Given the description of an element on the screen output the (x, y) to click on. 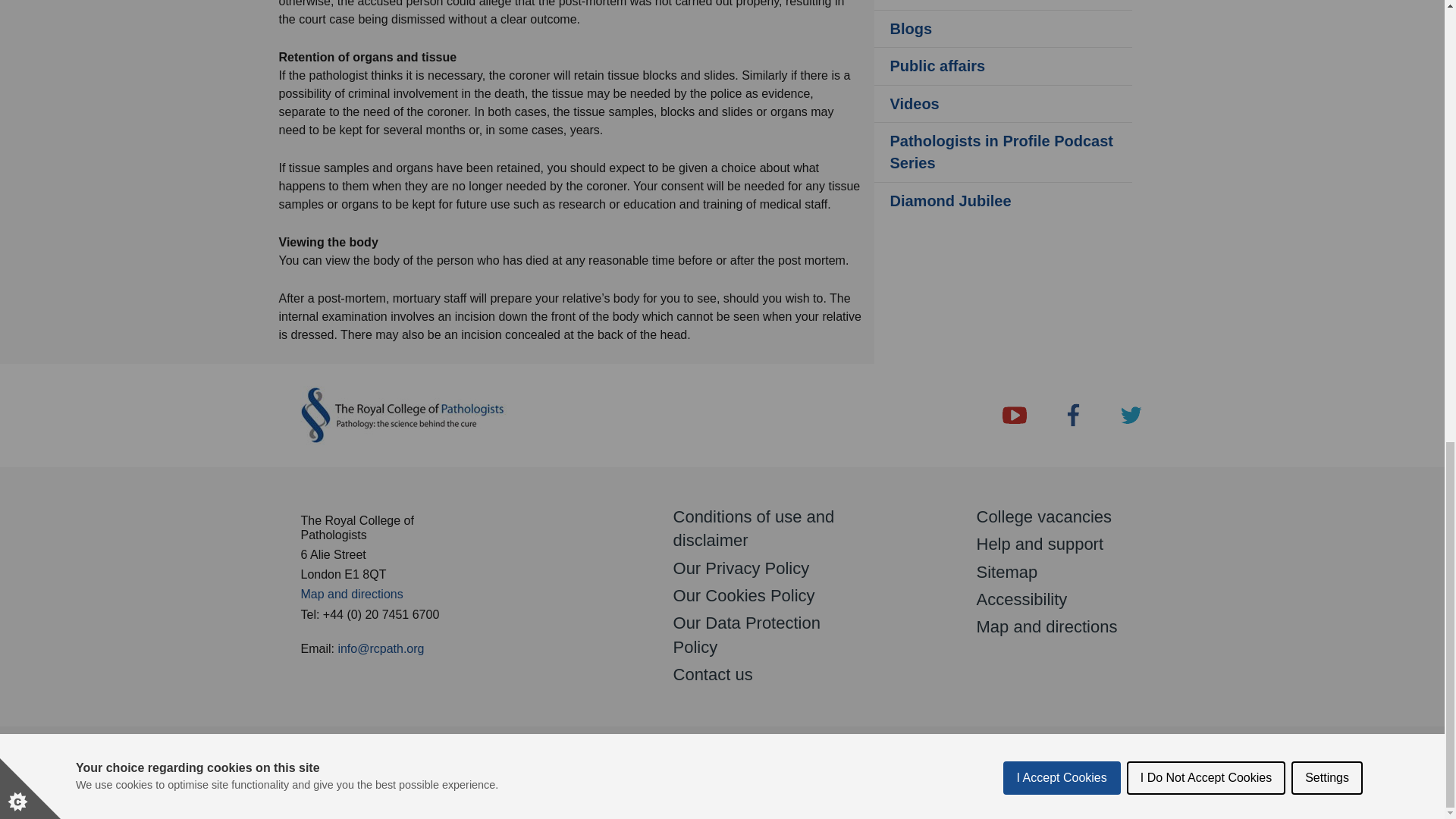
Accessibility (1021, 599)
Conditions of use and disclaimer (753, 527)
Youtube (1014, 415)
